Given the description of an element on the screen output the (x, y) to click on. 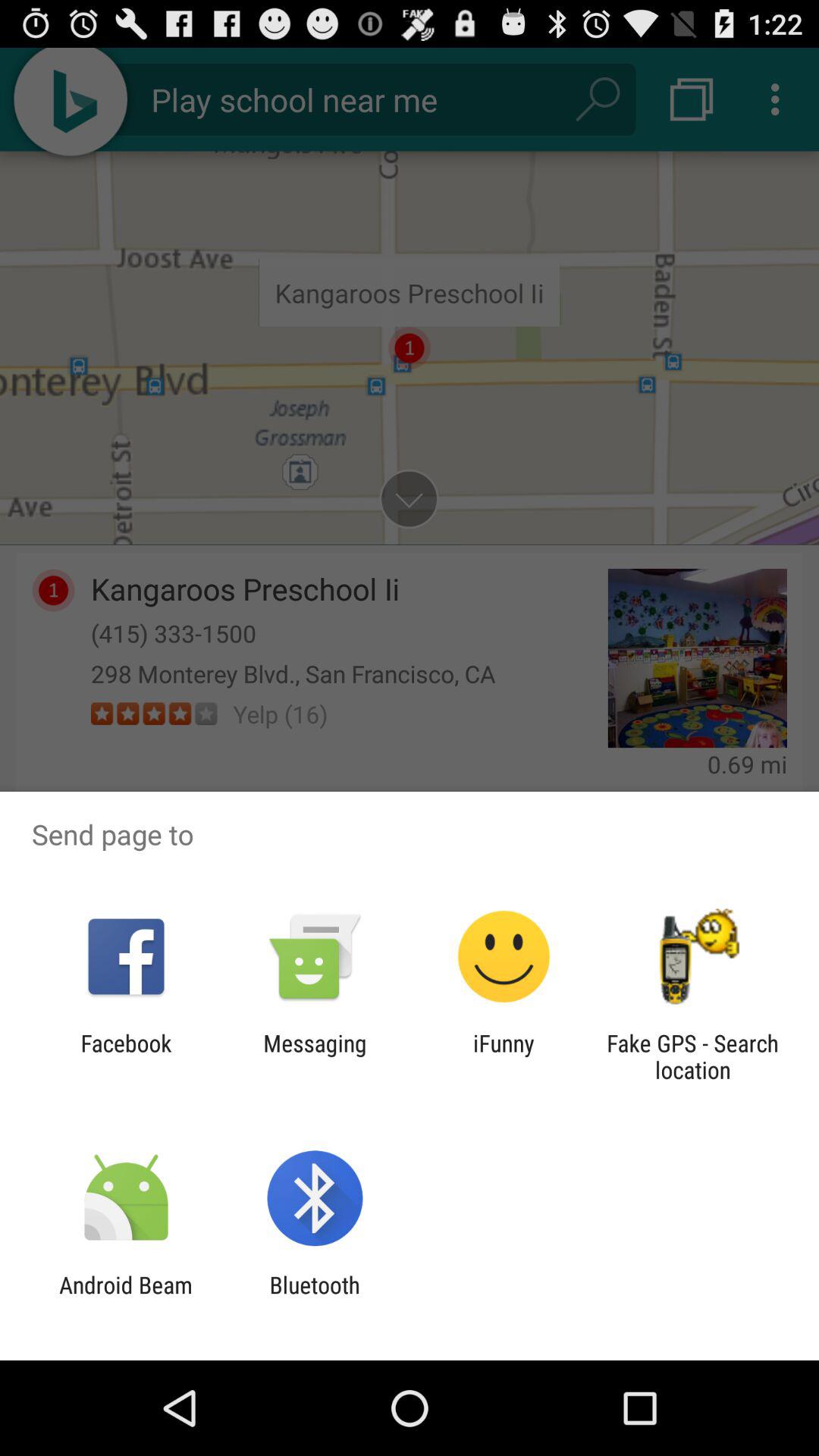
choose the icon next to ifunny app (314, 1056)
